Given the description of an element on the screen output the (x, y) to click on. 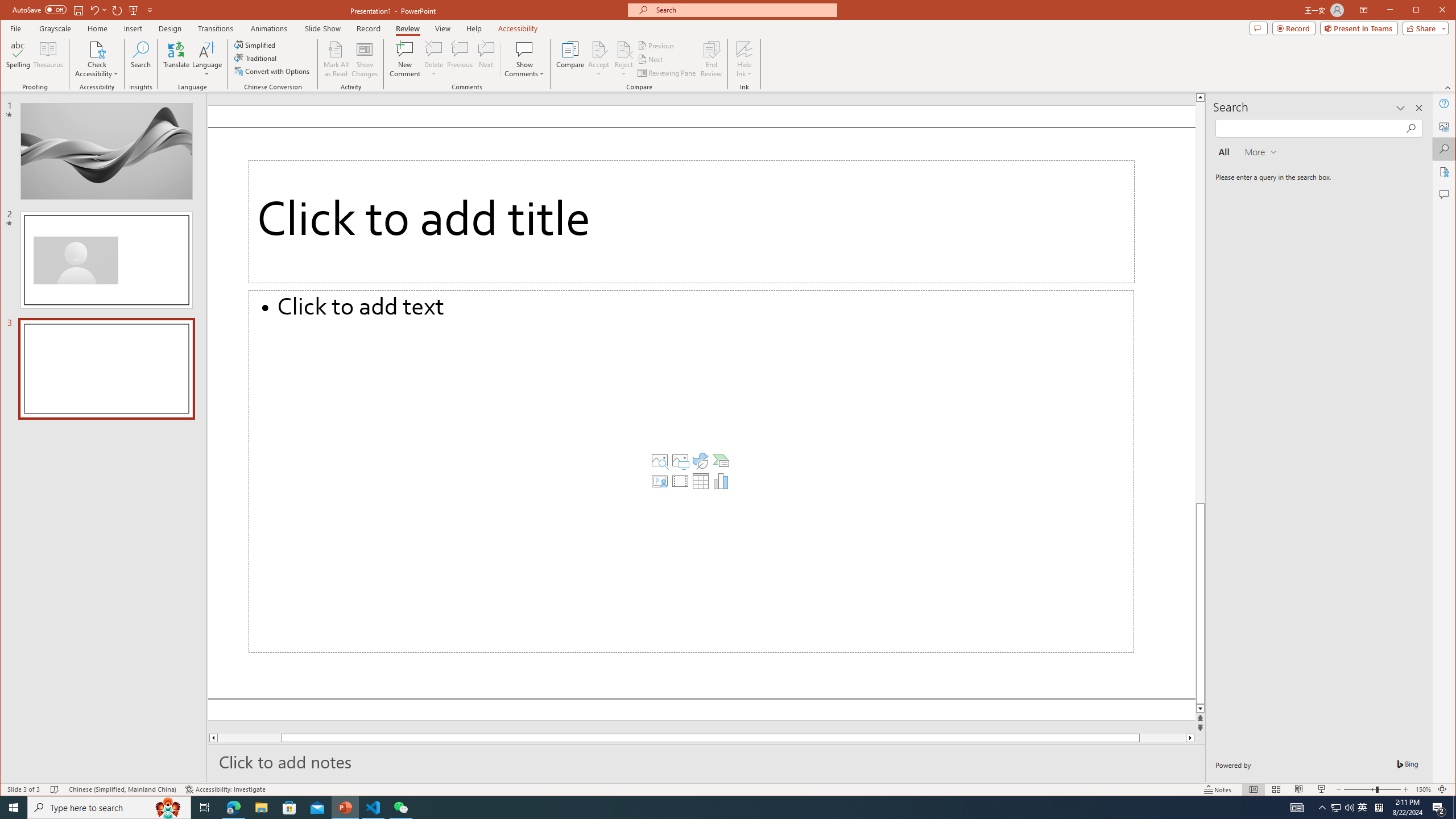
Zoom 150% (1422, 789)
